Given the description of an element on the screen output the (x, y) to click on. 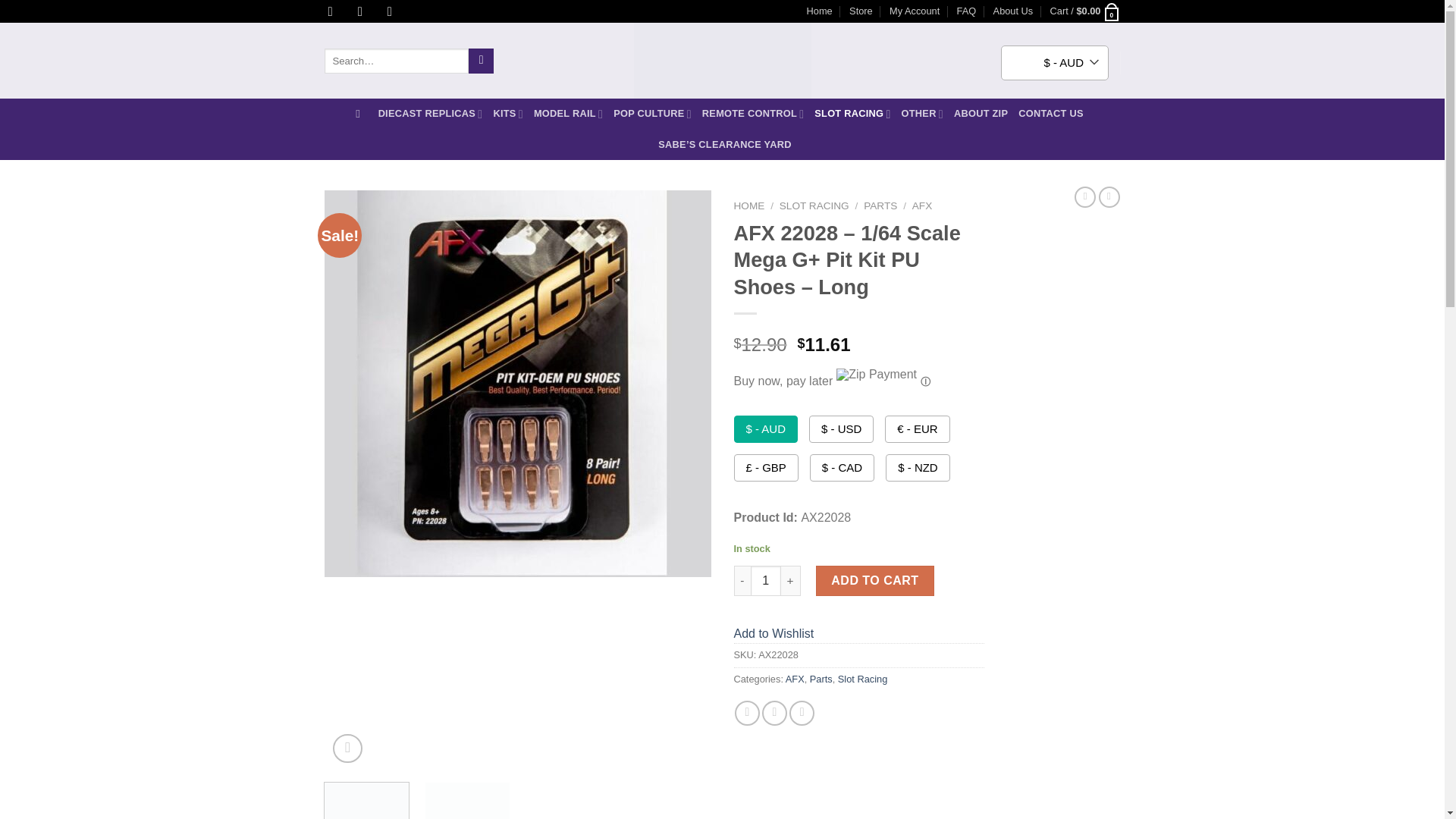
Follow on Facebook (334, 11)
DIECAST REPLICAS (430, 113)
Home (819, 11)
Qty (765, 580)
Zoom (347, 748)
Store (860, 11)
My Account (914, 11)
1 (765, 580)
Other (922, 113)
